Given the description of an element on the screen output the (x, y) to click on. 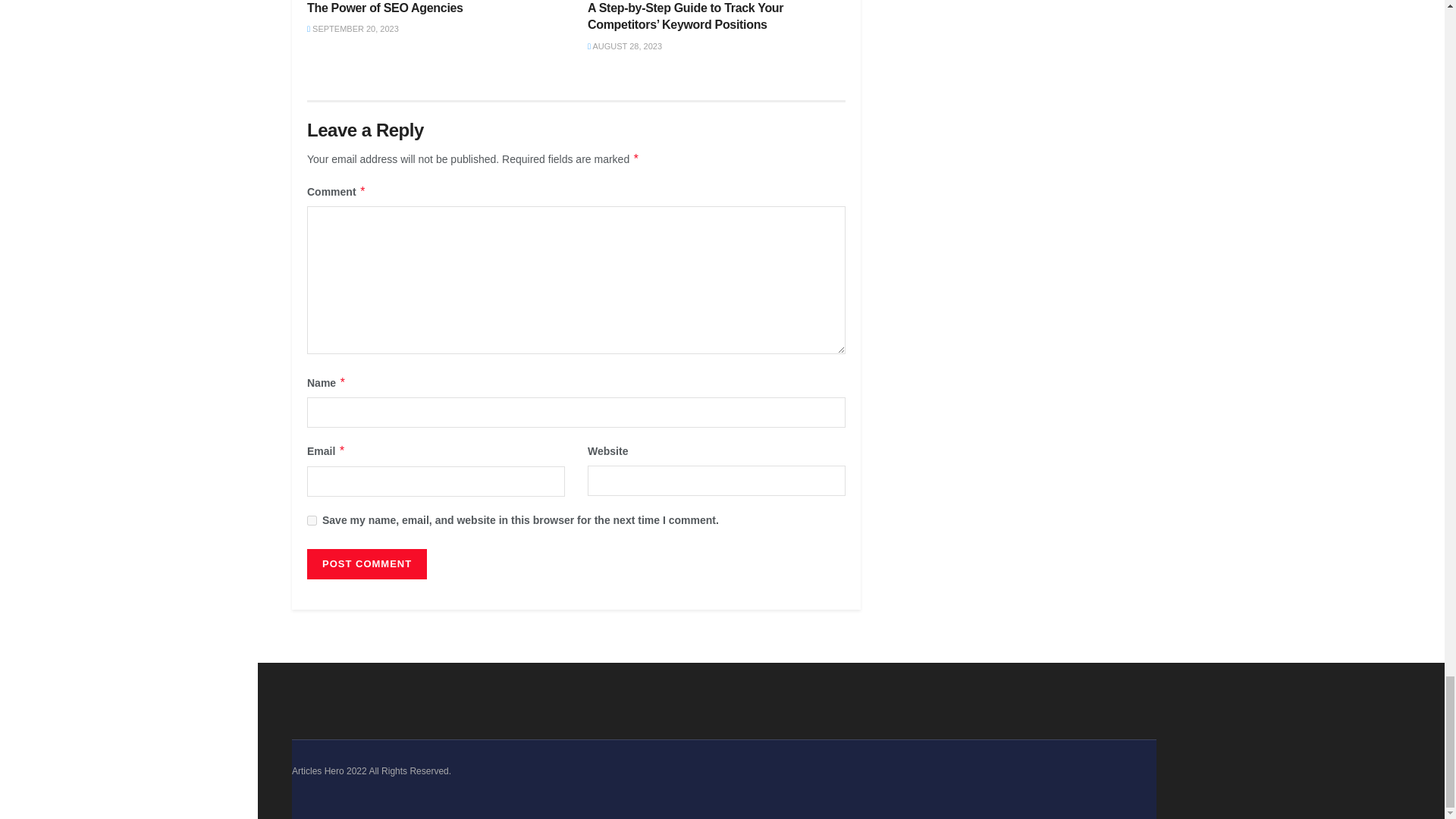
yes (312, 520)
Post Comment (366, 563)
